Given the description of an element on the screen output the (x, y) to click on. 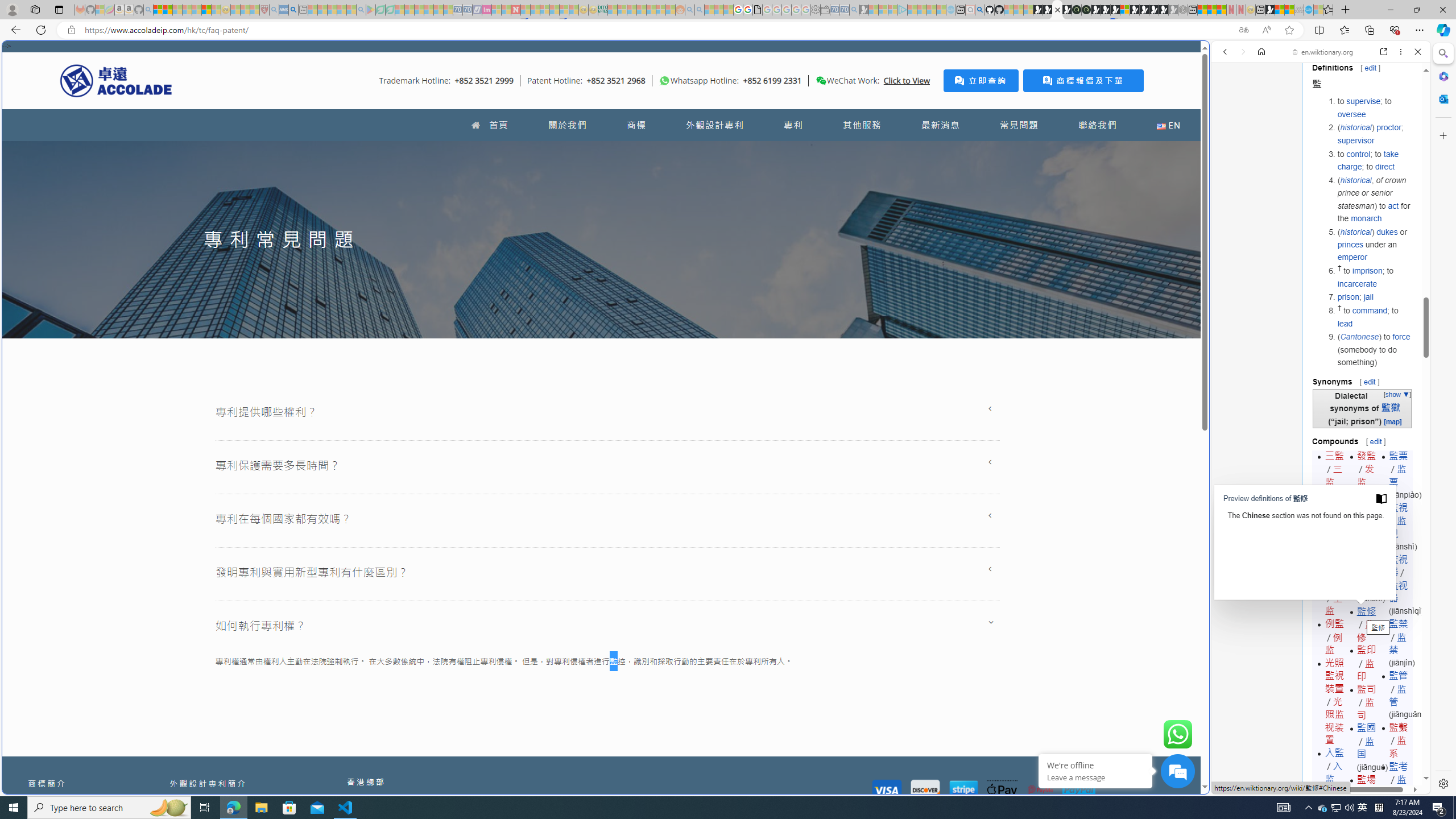
Bluey: Let's Play! - Apps on Google Play - Sleeping (370, 9)
princes (1349, 244)
DITOGAMES AG Imprint (602, 9)
Global web icon (1232, 786)
historical (1355, 231)
Sign in to your account (1124, 9)
google - Search - Sleeping (360, 9)
